Given the description of an element on the screen output the (x, y) to click on. 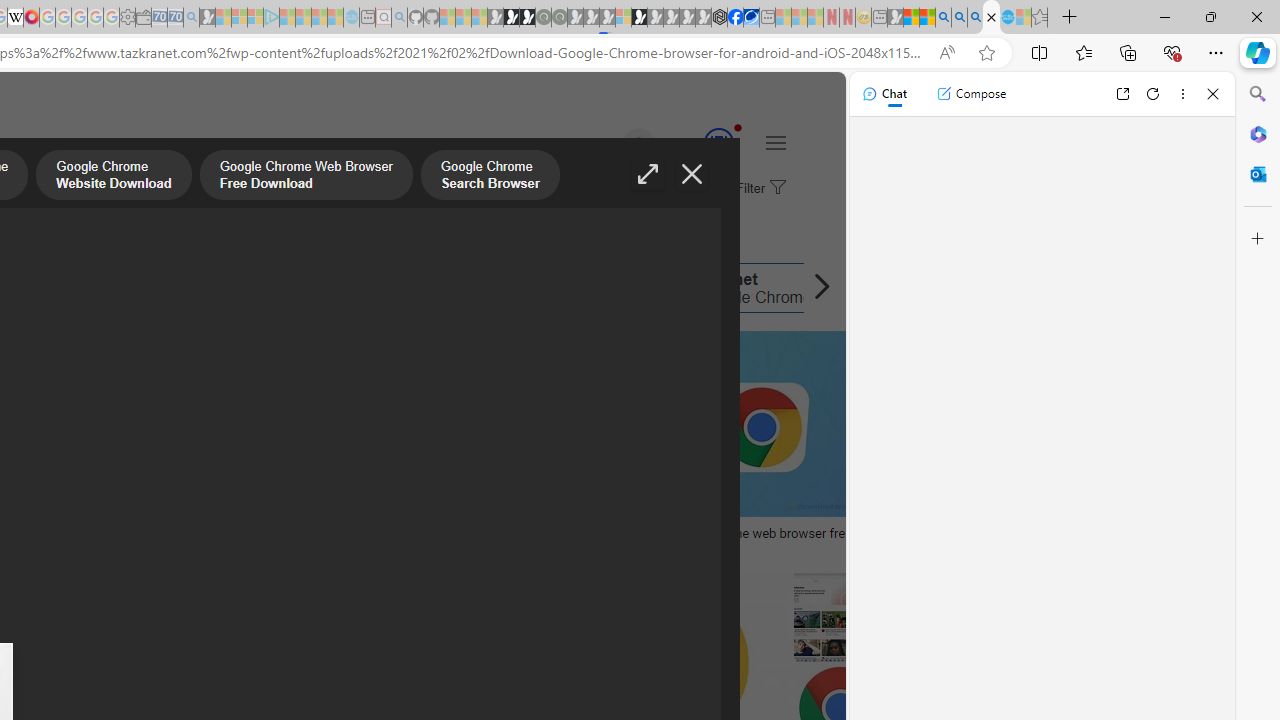
Bing AI - Search (943, 17)
Class: item col (738, 287)
wizardsgase - Blog (174, 533)
